Given the description of an element on the screen output the (x, y) to click on. 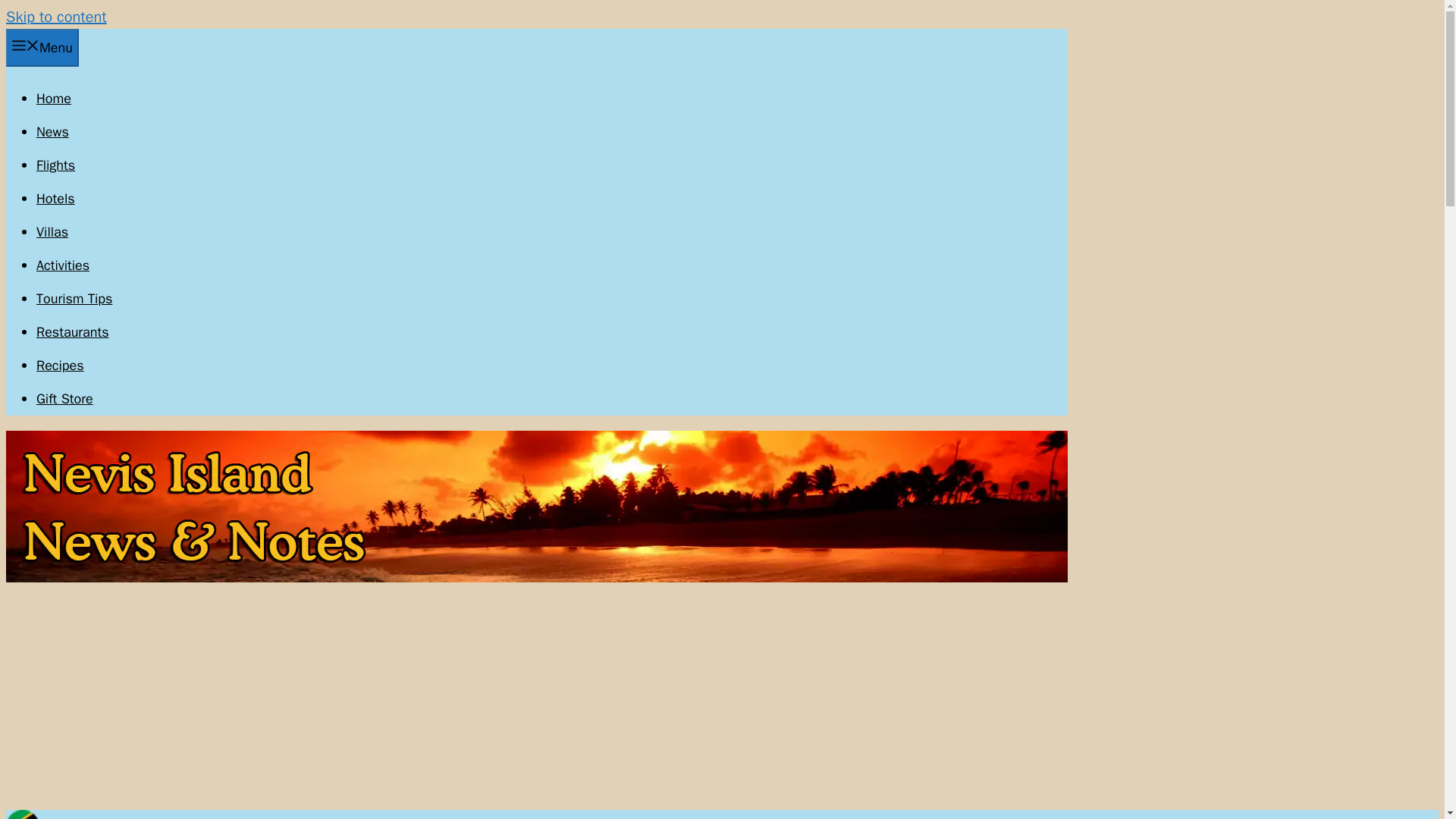
Hotels (55, 198)
Activities (62, 265)
News (52, 131)
Nevis Activities and Events Calendar (62, 265)
Gift Store (64, 398)
Nevis News (52, 131)
Home (53, 98)
Villas (52, 231)
Restaurants (72, 331)
Flights (55, 165)
Tourism Tips (74, 298)
Nevis Flight Information (55, 165)
Skip to content (55, 16)
Recipes (60, 365)
